Given the description of an element on the screen output the (x, y) to click on. 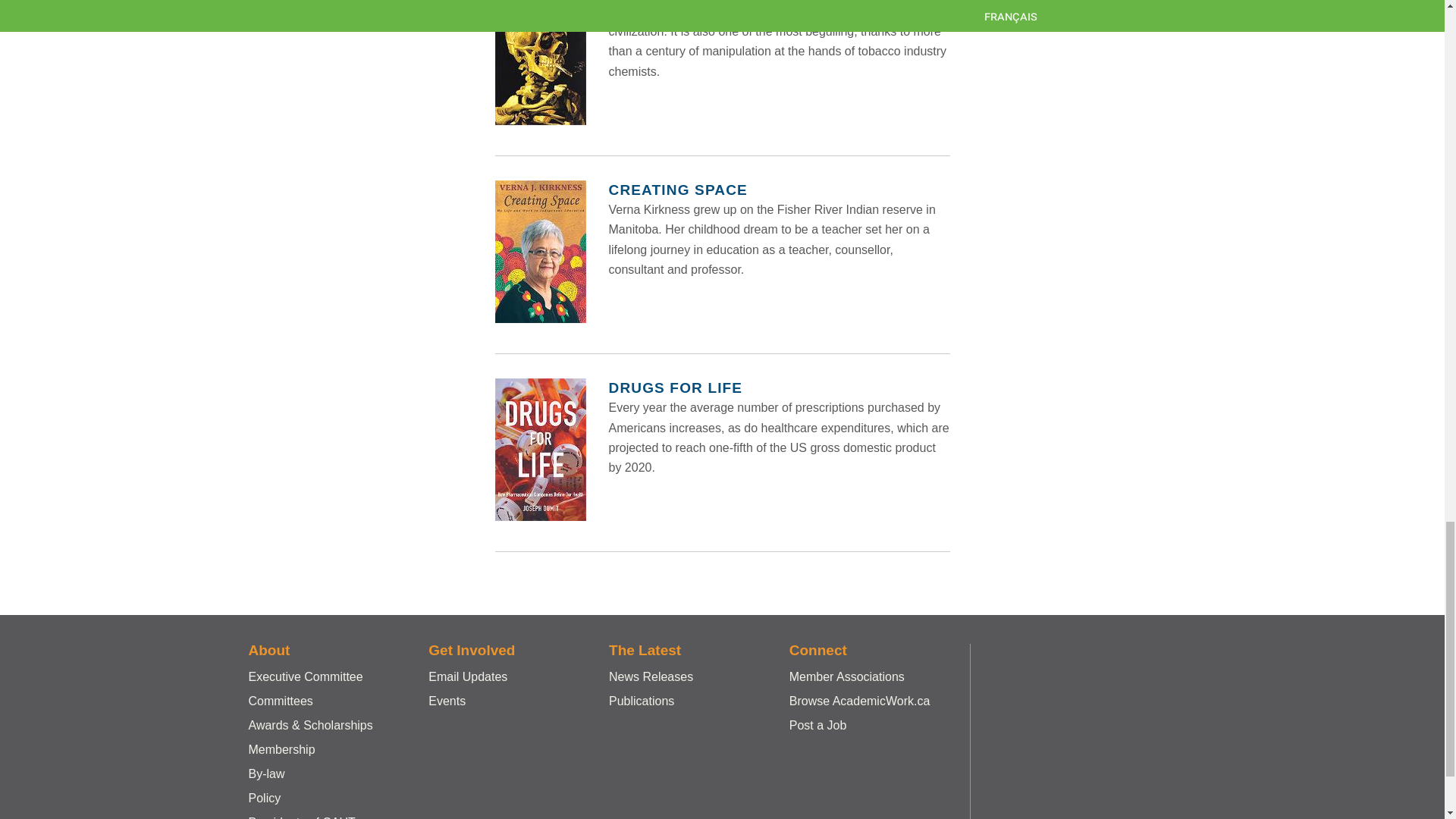
Executive Committee (305, 676)
Connect (818, 650)
CREATING SPACE (677, 189)
By-law (266, 773)
Events (446, 700)
Committees (280, 700)
About (268, 650)
Member Associations (846, 676)
Post a Job (818, 725)
DRUGS FOR LIFE (675, 387)
